Given the description of an element on the screen output the (x, y) to click on. 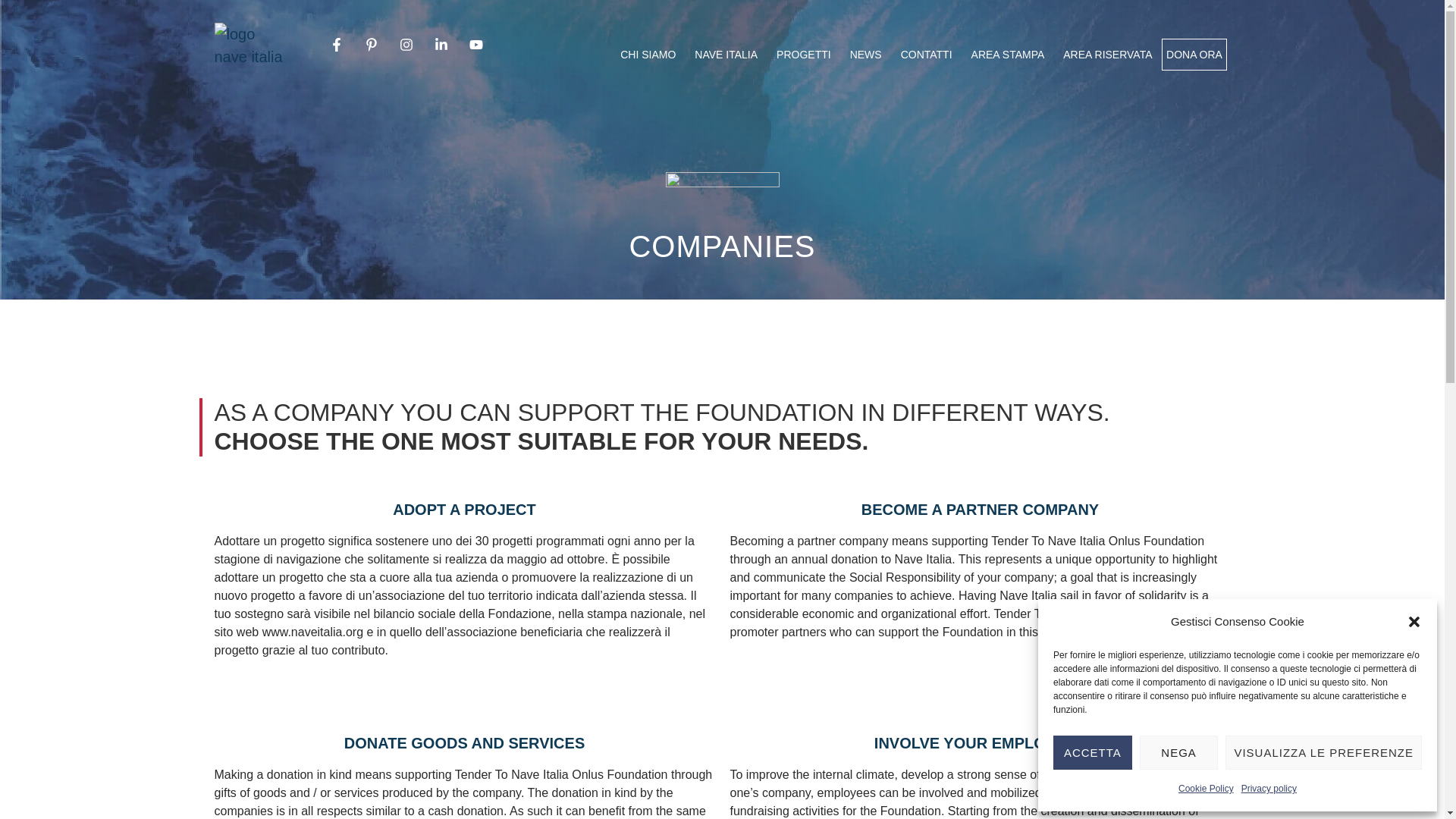
PROGETTI (803, 54)
NEWS (865, 54)
ACCETTA (1092, 752)
AREA STAMPA (1008, 54)
NEGA (1179, 752)
CONTATTI (926, 54)
CHI SIAMO (647, 54)
Privacy policy (1269, 788)
NAVE ITALIA (725, 54)
DONA ORA (1193, 54)
